Given the description of an element on the screen output the (x, y) to click on. 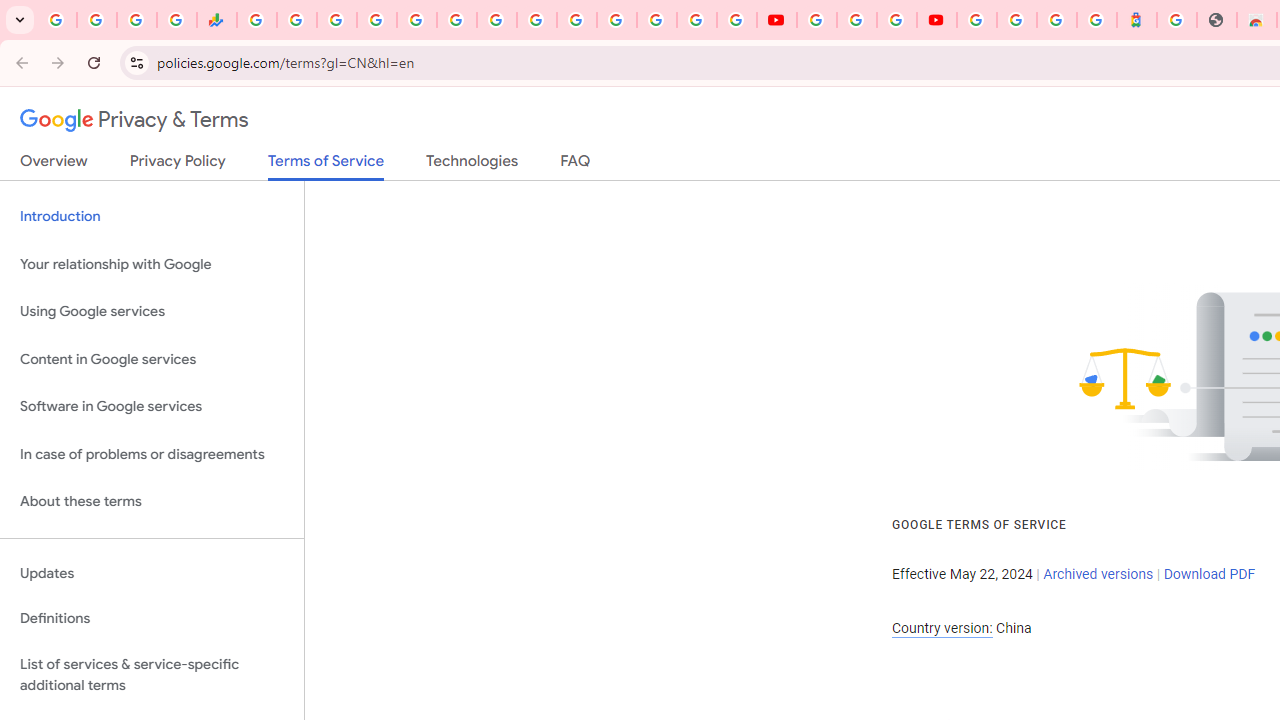
Google Account Help (856, 20)
Sign in - Google Accounts (657, 20)
Sign in - Google Accounts (1016, 20)
About these terms (152, 502)
Privacy Checkup (736, 20)
